Given the description of an element on the screen output the (x, y) to click on. 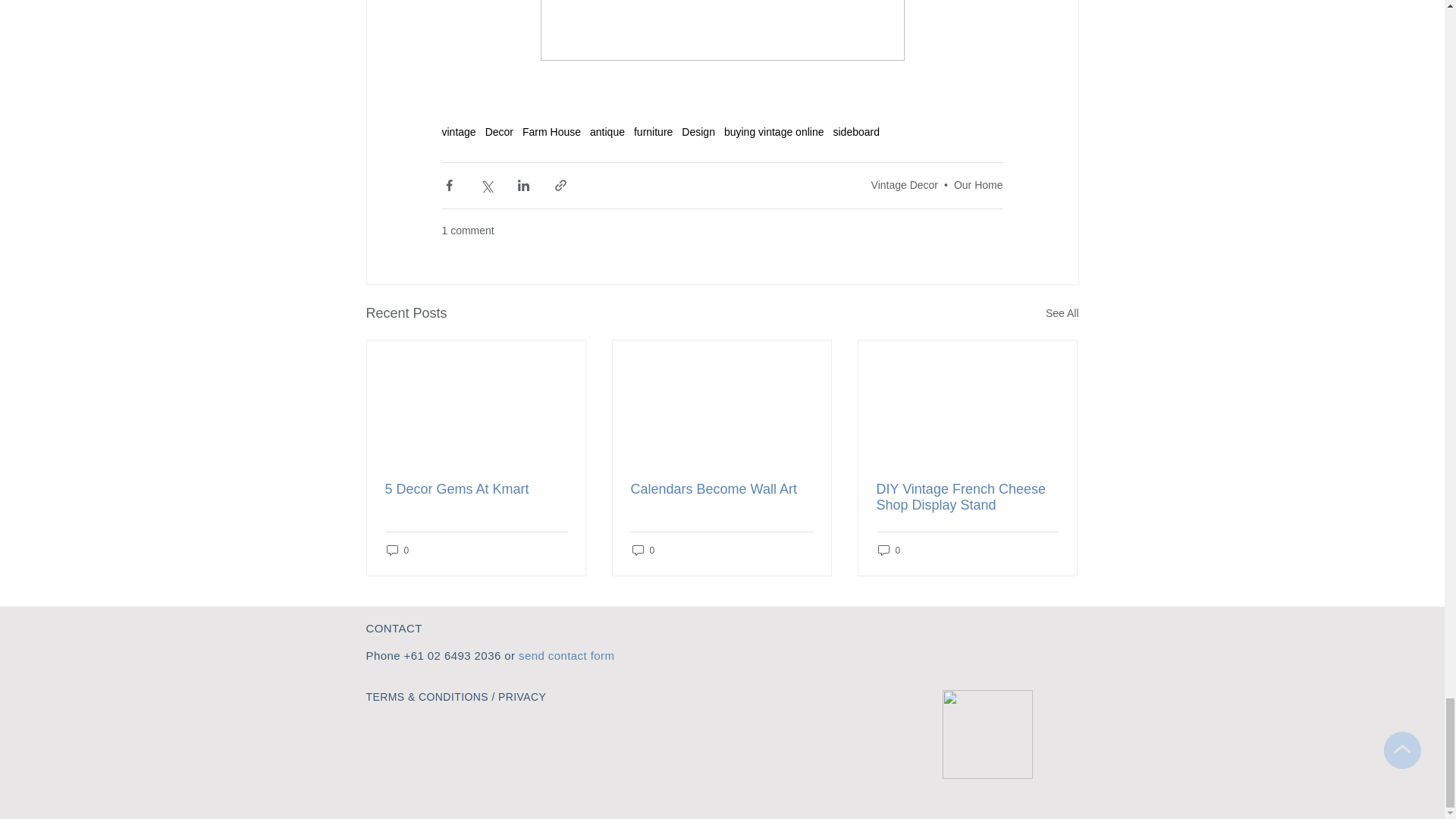
5 Decor Gems At Kmart (476, 489)
DIY Vintage French Cheese Shop Display Stand (967, 497)
0 (889, 549)
antique (606, 132)
Our Home (978, 184)
HH fb.jpg (987, 734)
buying vintage online (773, 132)
vintage (458, 132)
0 (643, 549)
Calendars Become Wall Art (721, 489)
furniture (652, 132)
Decor (498, 132)
Farm House (551, 132)
sideboard (855, 132)
Design (697, 132)
